Given the description of an element on the screen output the (x, y) to click on. 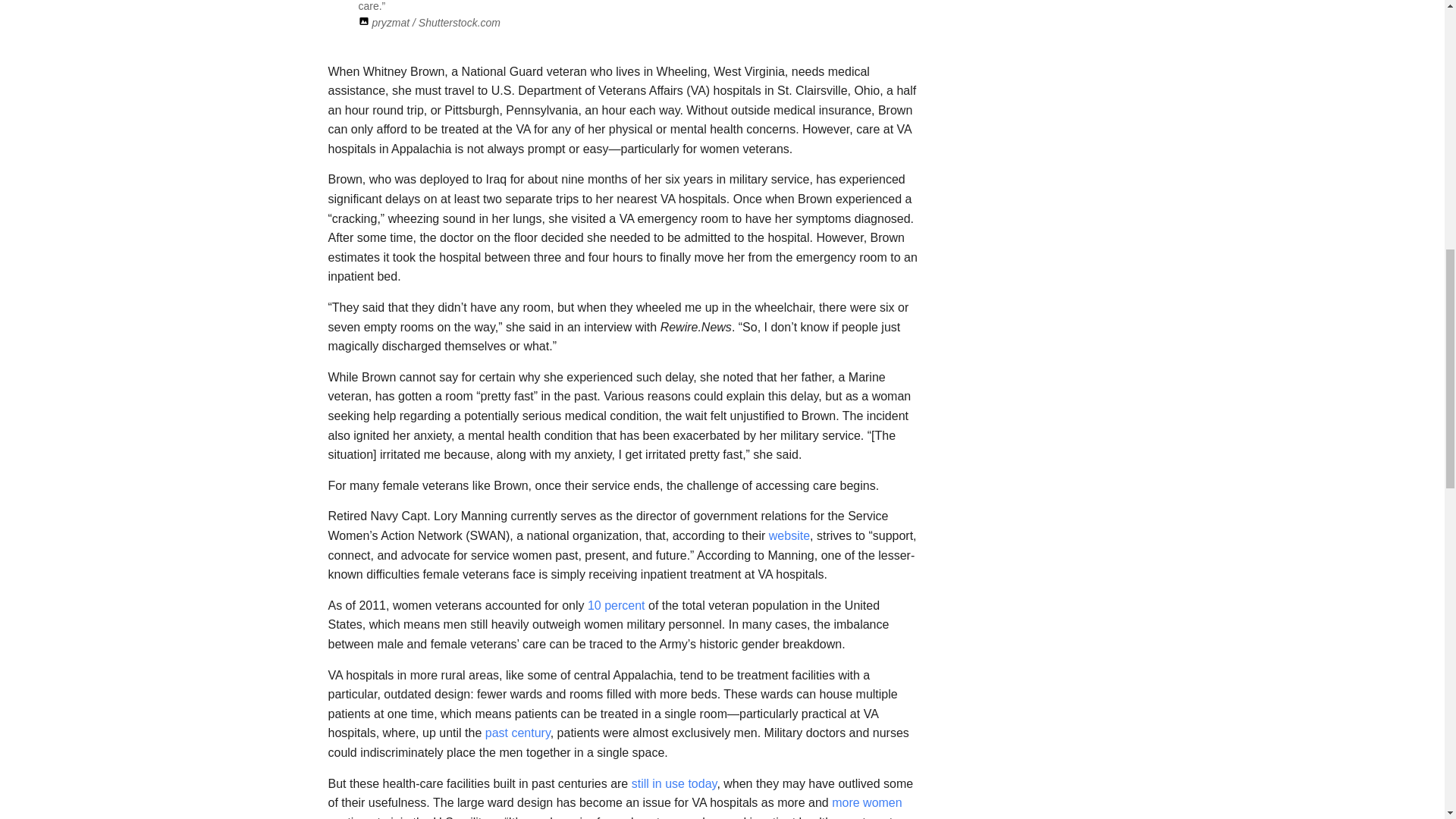
website (788, 535)
more women (866, 802)
past century (517, 732)
still in use today (674, 782)
10 percent (616, 604)
